Given the description of an element on the screen output the (x, y) to click on. 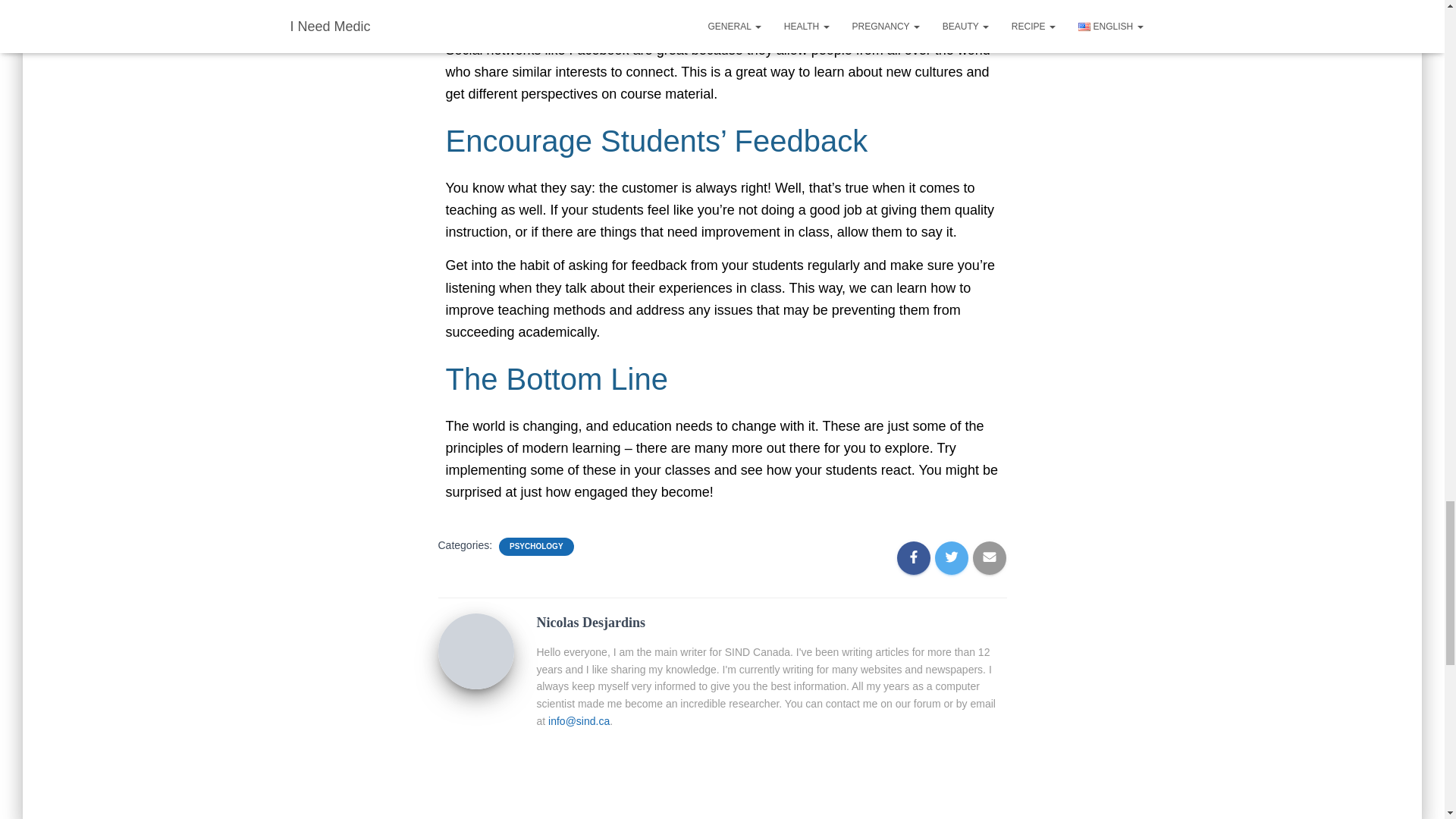
PSYCHOLOGY (536, 546)
